Given the description of an element on the screen output the (x, y) to click on. 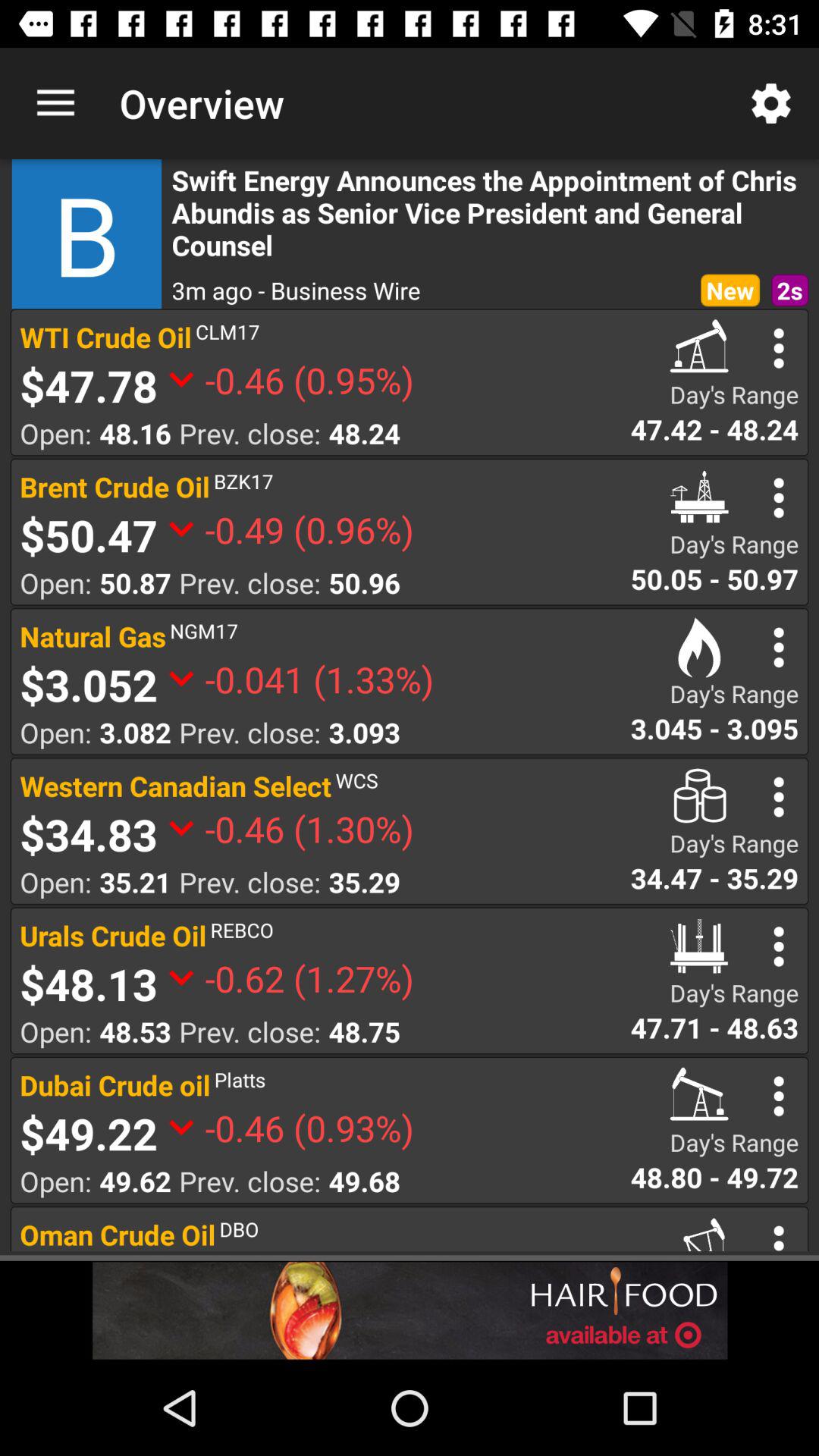
more options (778, 796)
